Given the description of an element on the screen output the (x, y) to click on. 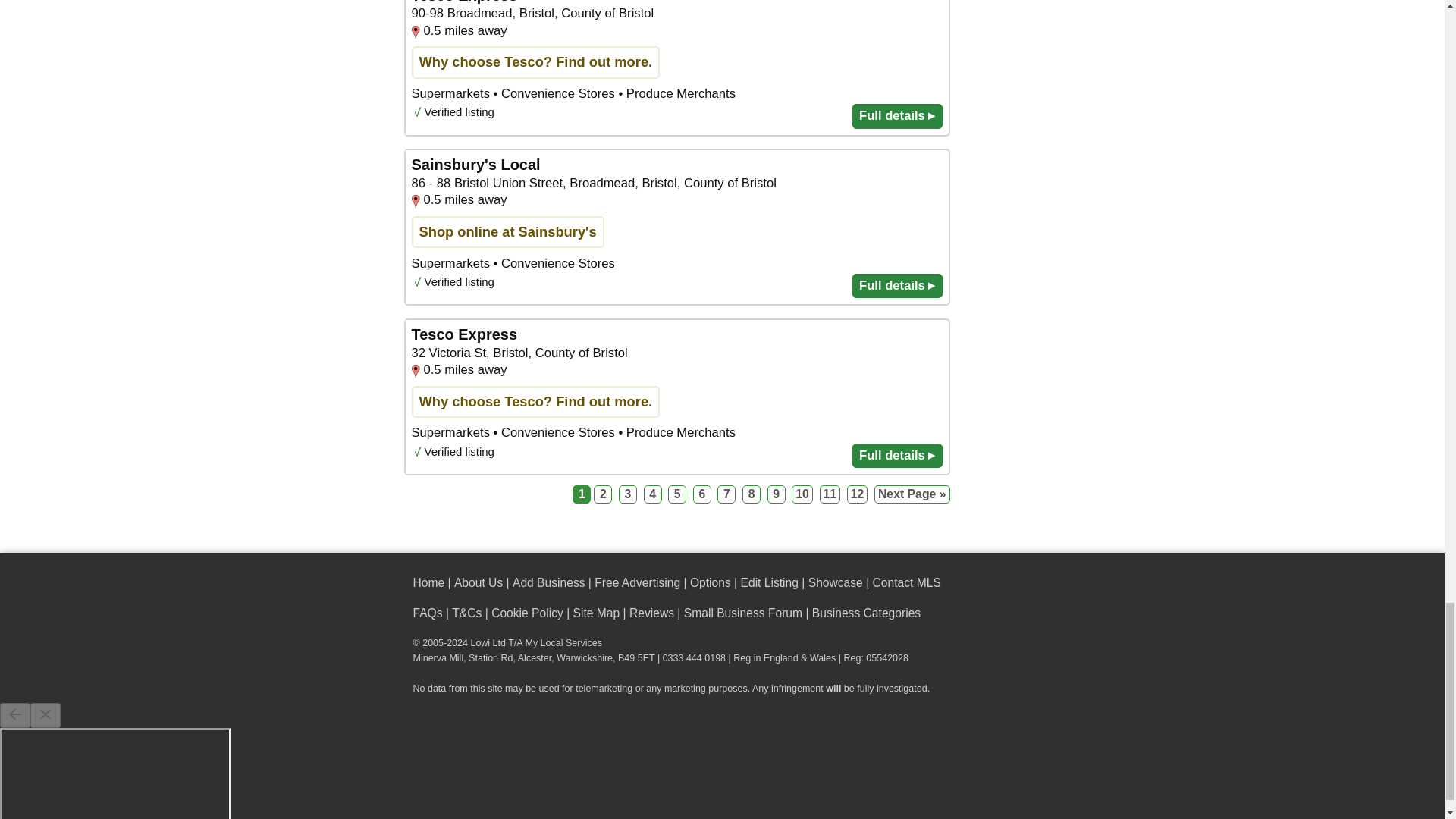
Click to view the full details for Tesco Express (676, 68)
Click to view the full details for Sainsbury's Local (676, 226)
